Given the description of an element on the screen output the (x, y) to click on. 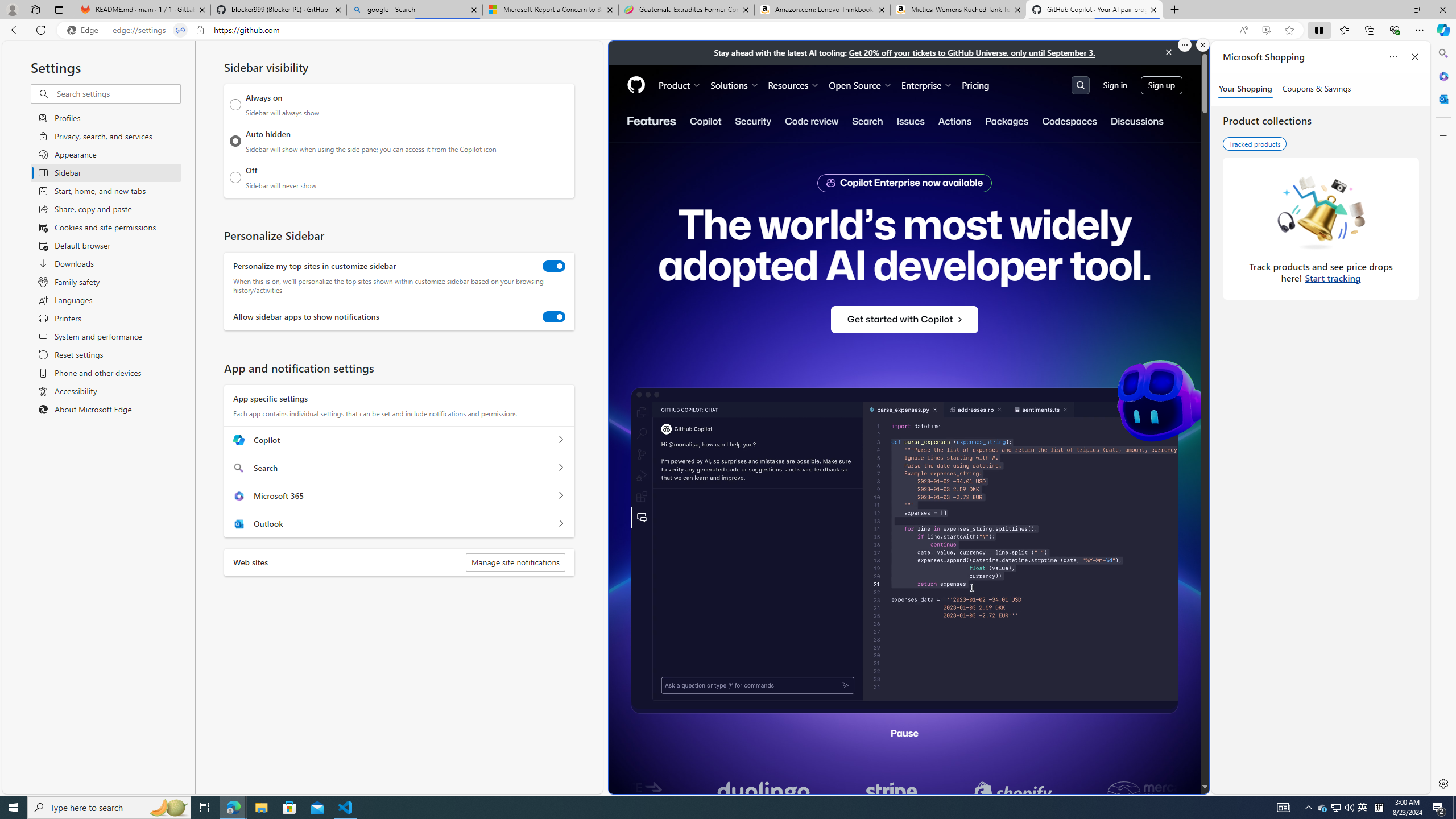
Product (679, 84)
Enhance video (1266, 29)
Search settings (117, 93)
Code review (811, 120)
Features (650, 121)
Actions (954, 120)
